Given the description of an element on the screen output the (x, y) to click on. 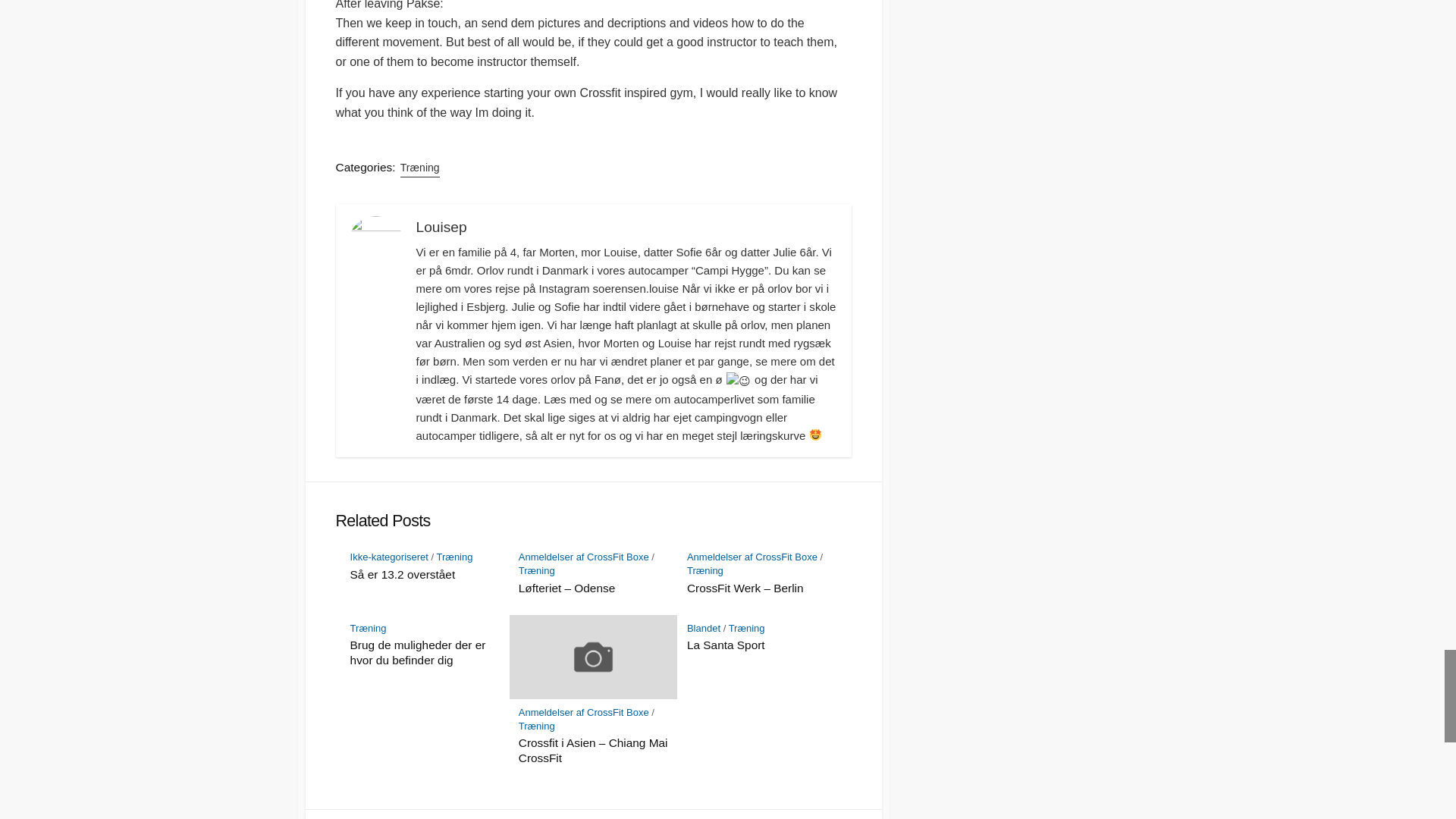
Anmeldelser af CrossFit Boxe (583, 556)
Brug de muligheder der er hvor du befinder dig (425, 653)
Anmeldelser af CrossFit Boxe (751, 556)
Ikke-kategoriseret (389, 556)
Anmeldelser af CrossFit Boxe (583, 712)
Blandet (703, 627)
